Given the description of an element on the screen output the (x, y) to click on. 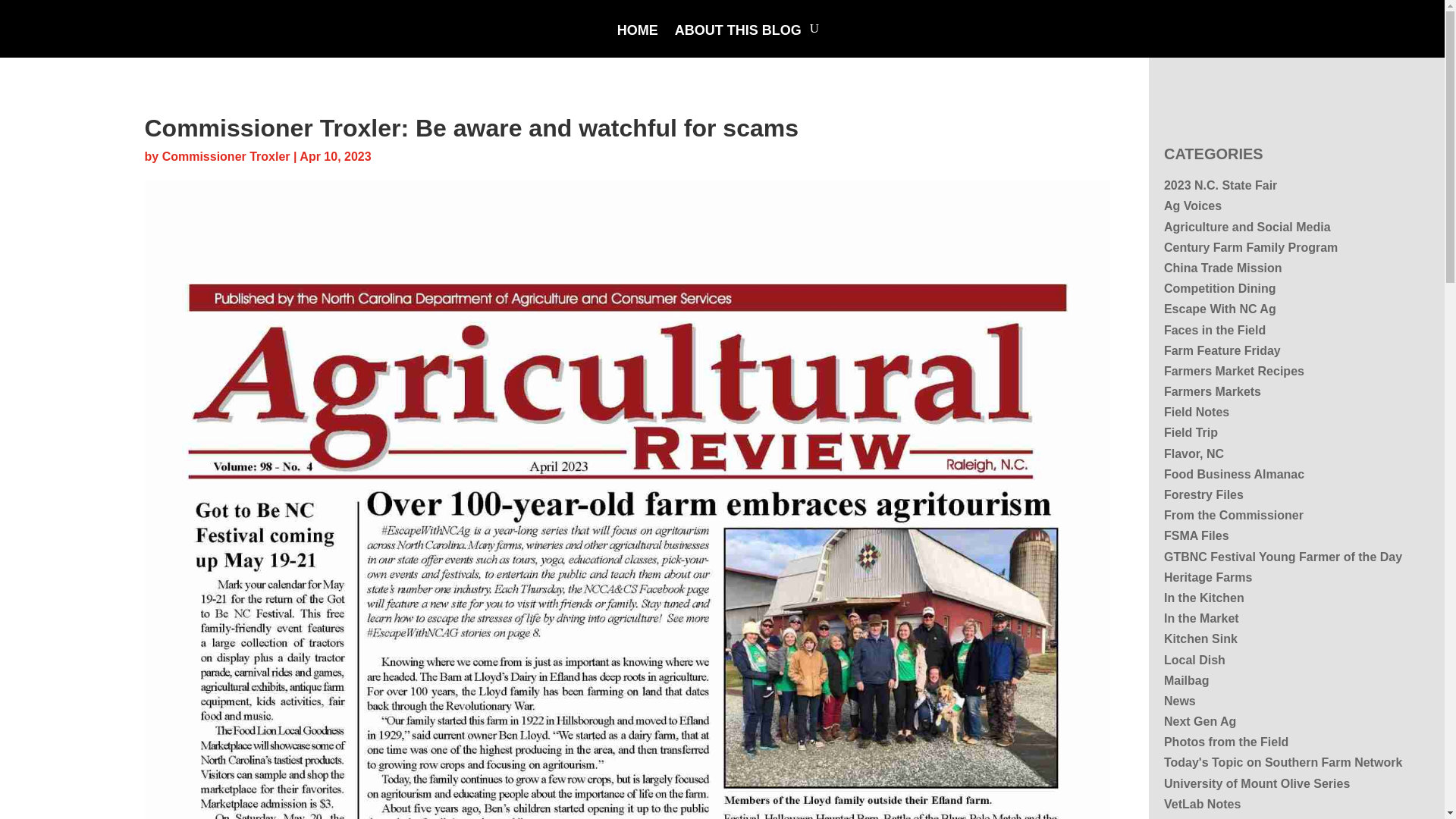
Competition Dining (1219, 287)
China Trade Mission (1222, 267)
Posts by Commissioner Troxler (225, 155)
Flavor, NC (1193, 453)
Food Business Almanac (1233, 473)
News (1179, 700)
Today's Topic on Southern Farm Network (1282, 762)
Faces in the Field (1214, 328)
Next Gen Ag (1199, 721)
Local Dish (1194, 659)
Farmers Market Recipes (1233, 370)
Escape With NC Ag (1219, 308)
Field Trip (1190, 431)
In the Kitchen (1203, 597)
